Given the description of an element on the screen output the (x, y) to click on. 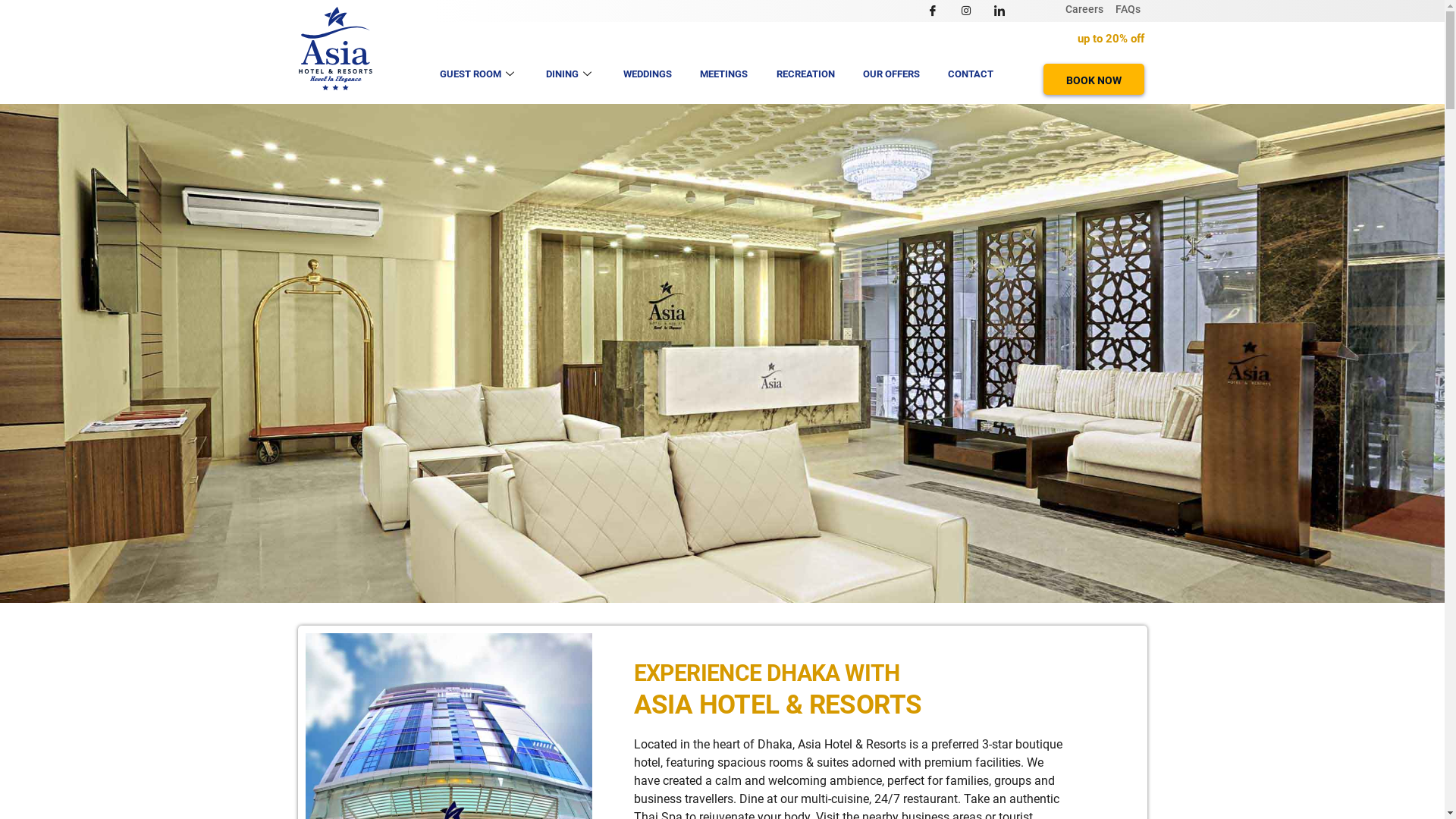
GUEST ROOM Element type: text (478, 73)
BOOK NOW Element type: text (1093, 78)
WEDDINGS Element type: text (647, 73)
FAQs Element type: text (1127, 9)
DINING Element type: text (570, 73)
RECREATION Element type: text (805, 73)
MEETINGS Element type: text (723, 73)
OUR OFFERS Element type: text (891, 73)
CONTACT Element type: text (970, 73)
Careers Element type: text (1084, 9)
